Given the description of an element on the screen output the (x, y) to click on. 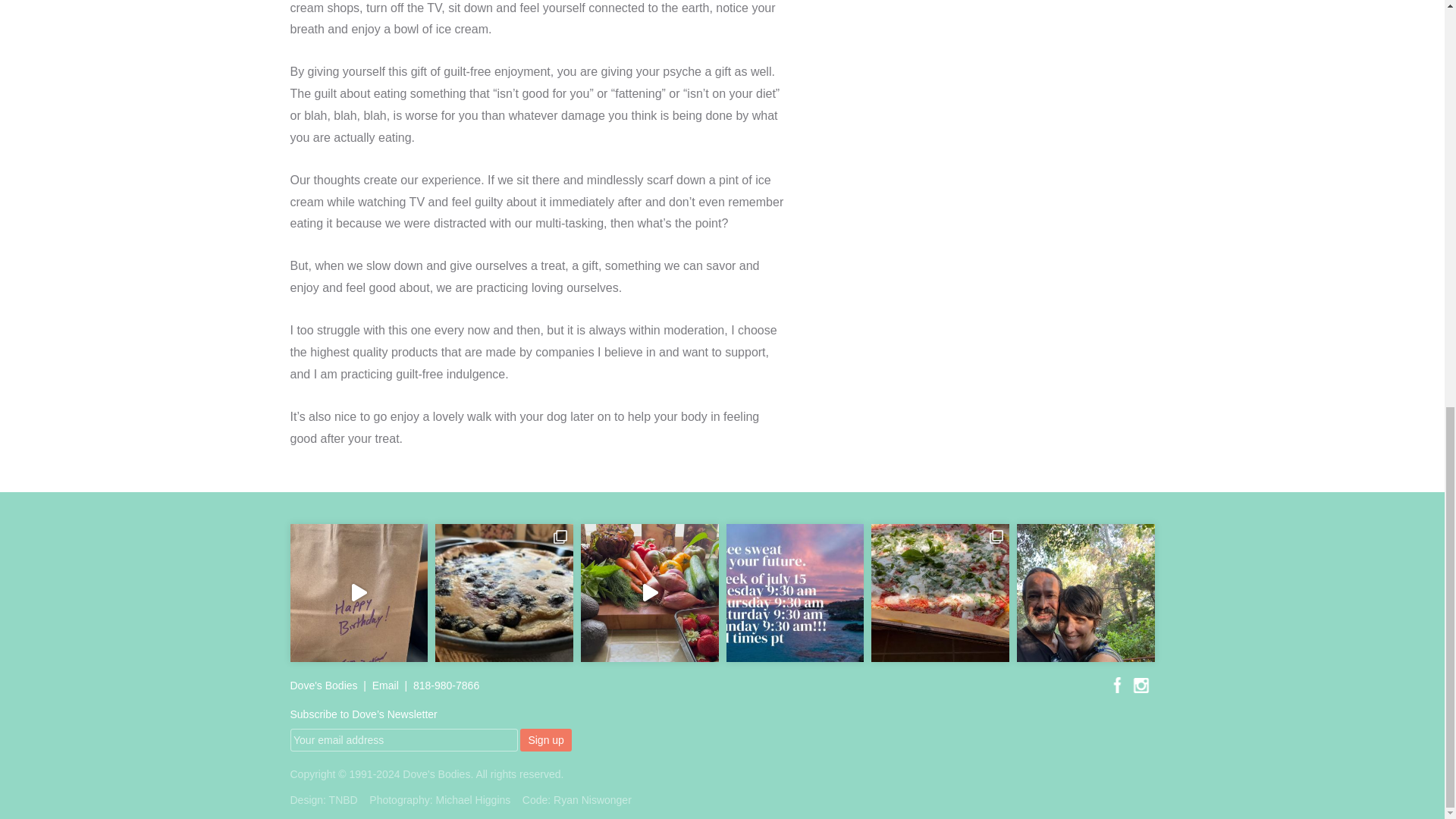
818-980-7866 (446, 685)
Email (385, 685)
Sign up (544, 739)
